Given the description of an element on the screen output the (x, y) to click on. 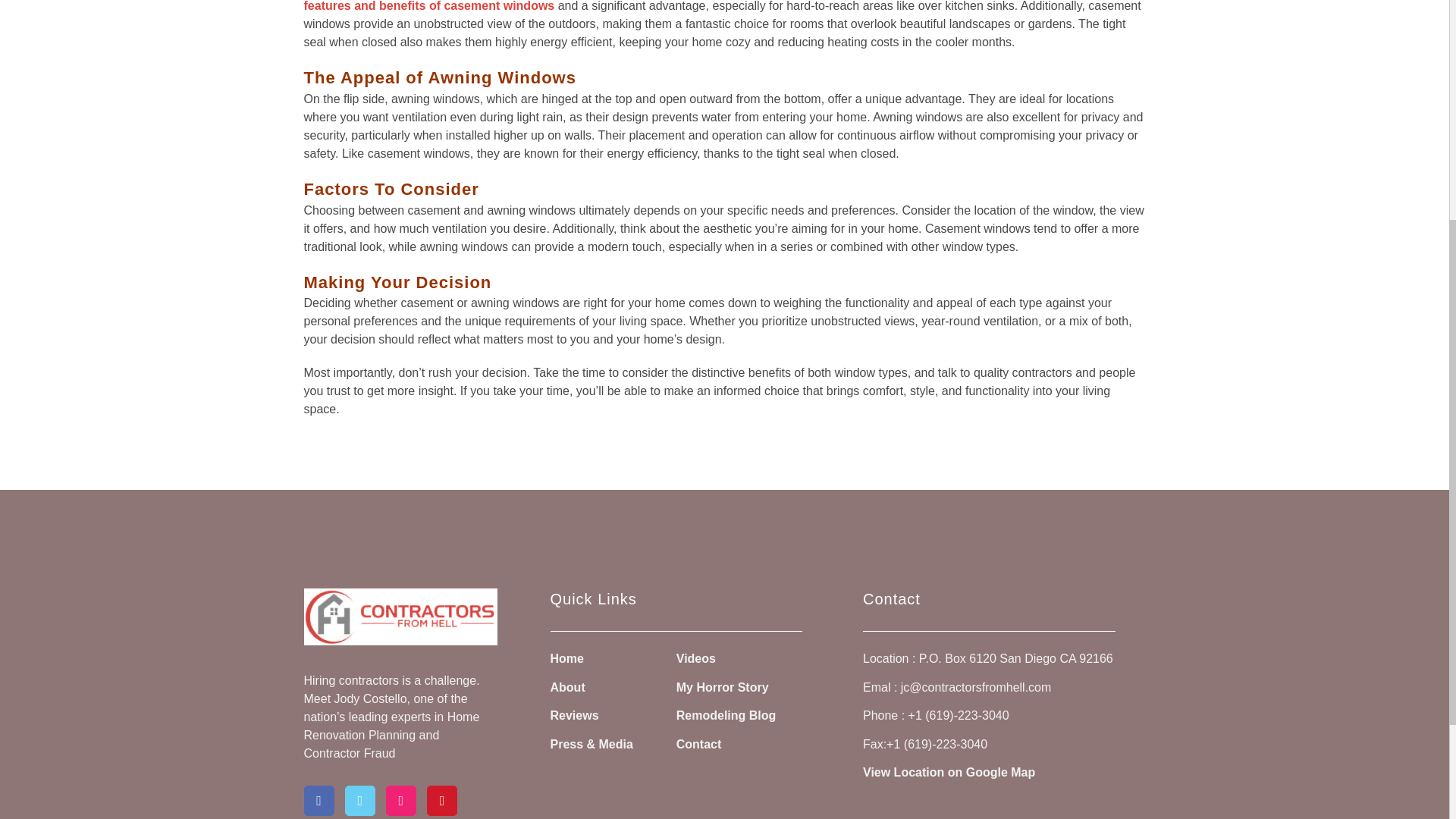
About (567, 687)
My Horror Story (722, 687)
Reviews (574, 715)
Remodeling Blog (726, 715)
features and benefits of casement windows (428, 7)
Contact (699, 744)
Videos (696, 659)
Home (566, 659)
View Location on Google Map (949, 773)
